Given the description of an element on the screen output the (x, y) to click on. 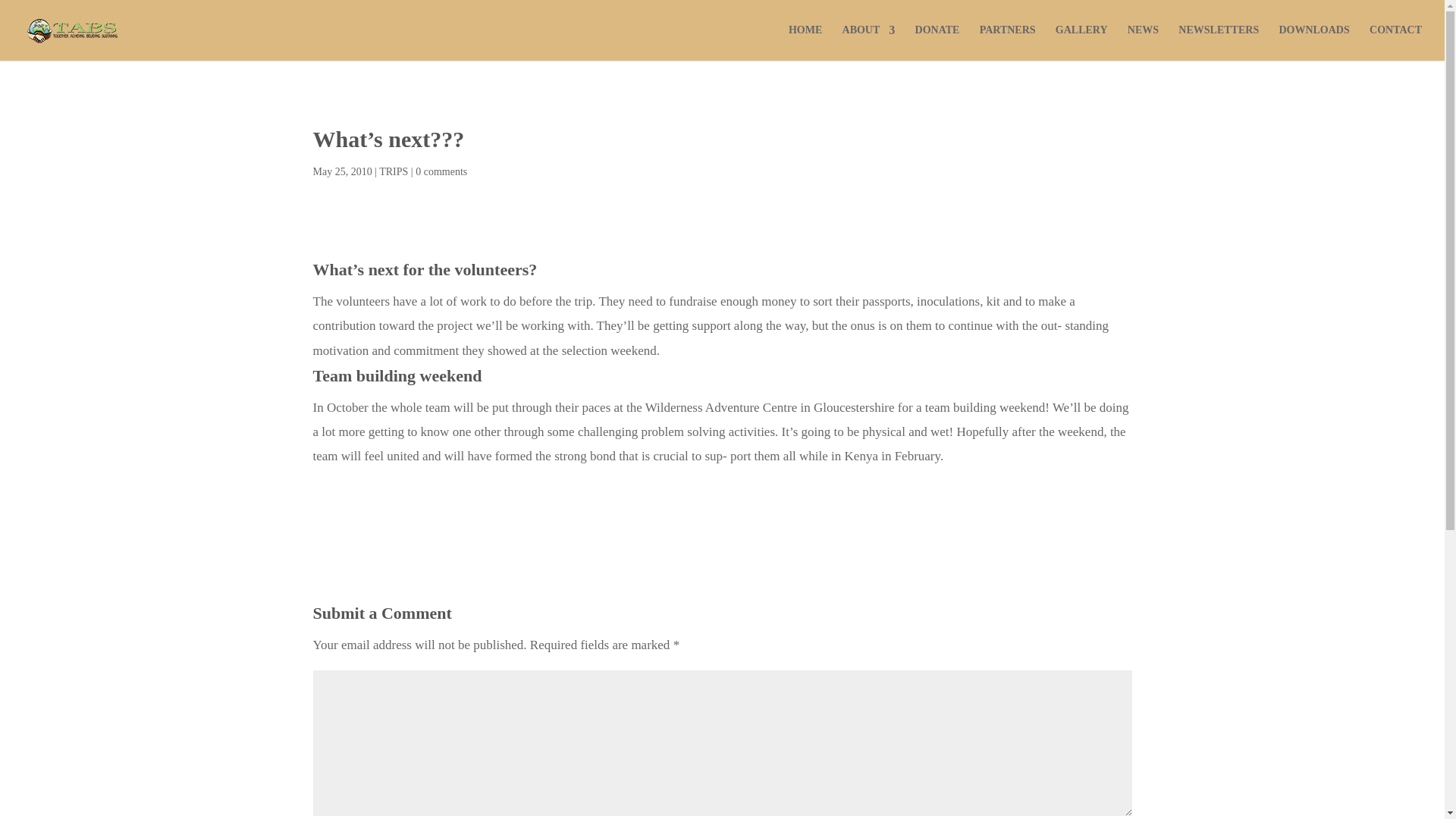
NEWSLETTERS (1218, 42)
HOME (805, 42)
DONATE (937, 42)
DOWNLOADS (1313, 42)
0 comments (440, 171)
CONTACT (1396, 42)
TRIPS (392, 171)
ABOUT (869, 42)
GALLERY (1081, 42)
